Given the description of an element on the screen output the (x, y) to click on. 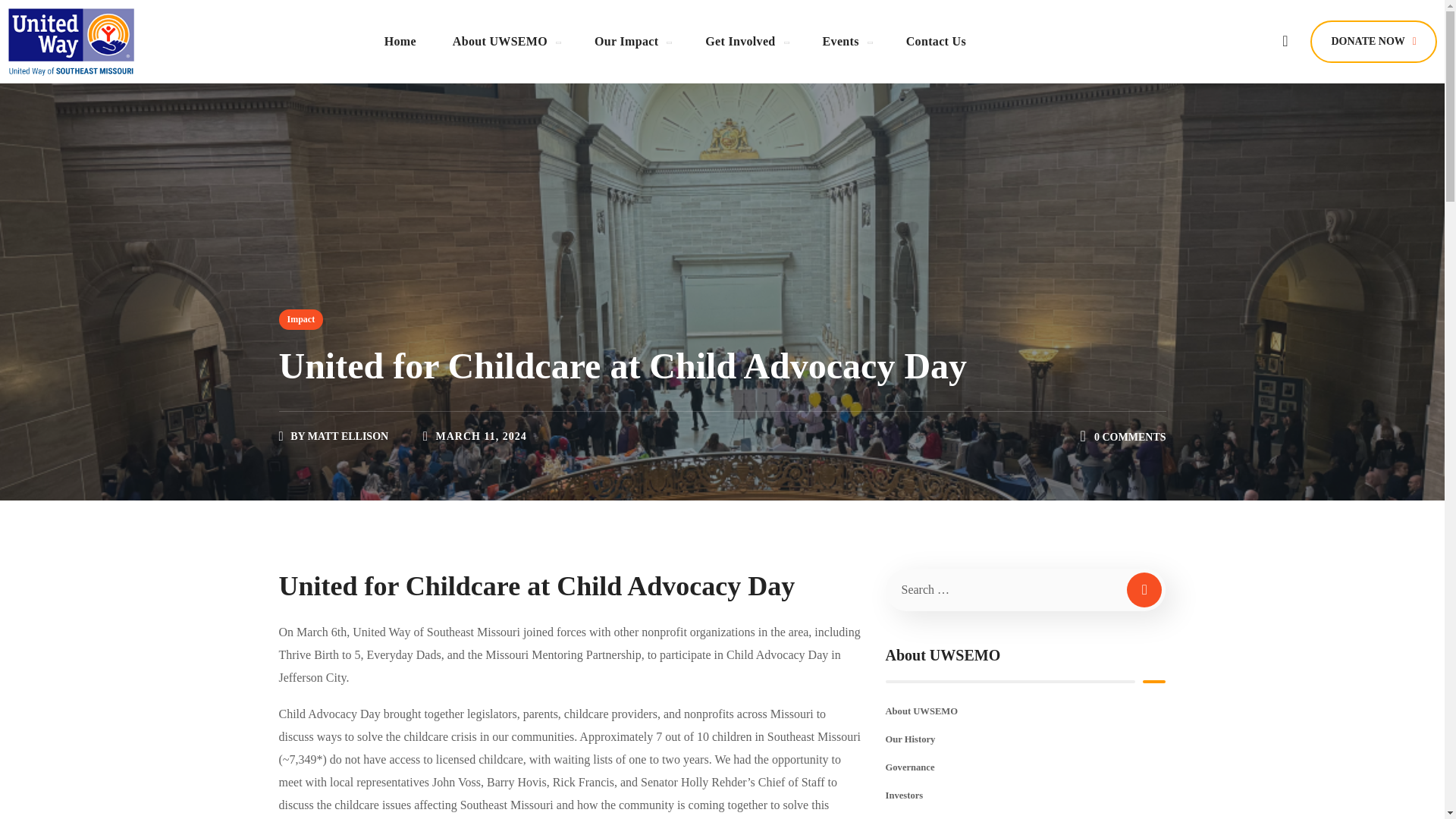
Leave a reply (1130, 437)
Get Involved (745, 41)
Home (399, 41)
Our Impact (631, 41)
About UWSEMO (504, 41)
